Given the description of an element on the screen output the (x, y) to click on. 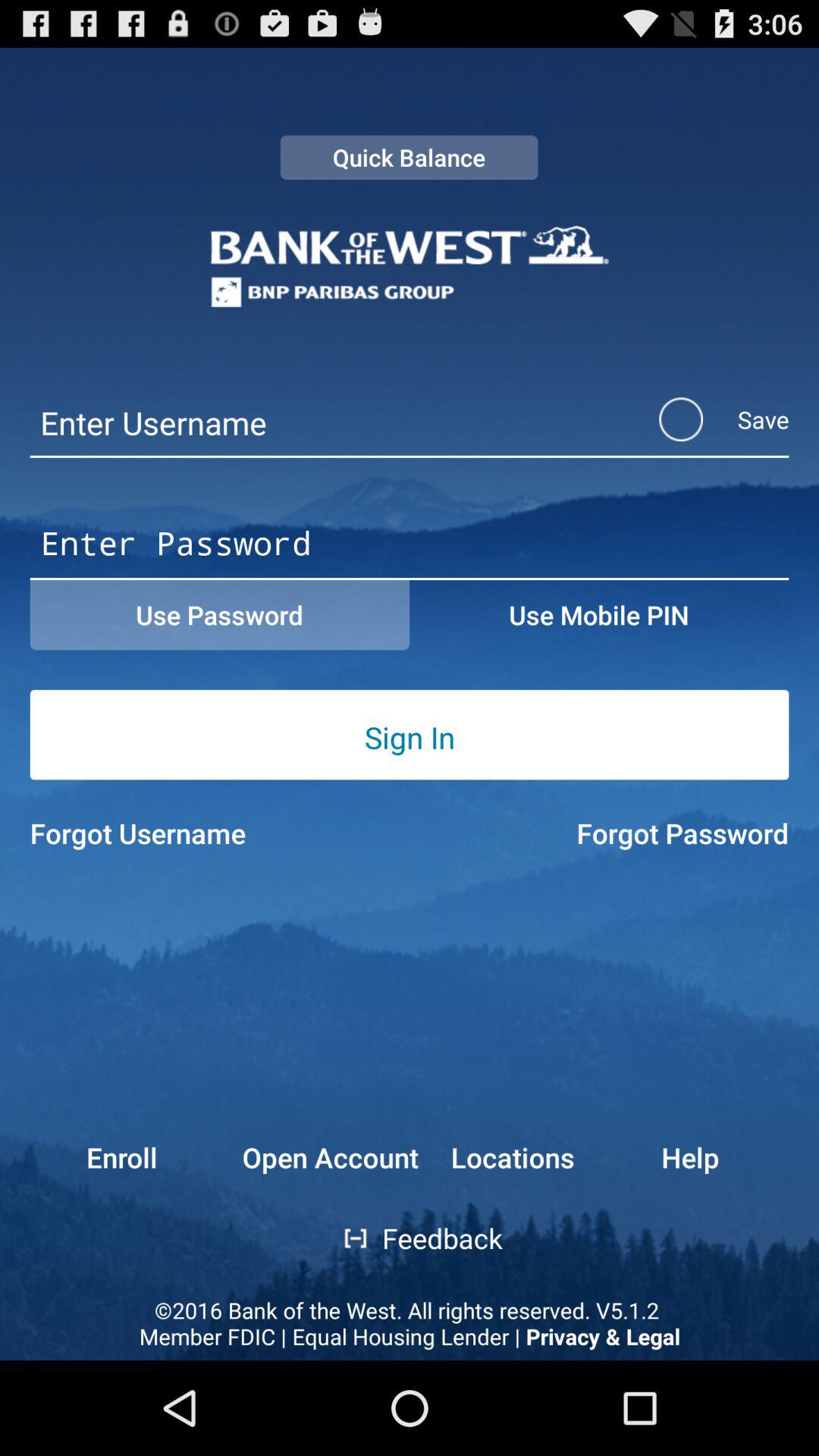
select the icon at the top right corner (703, 419)
